Given the description of an element on the screen output the (x, y) to click on. 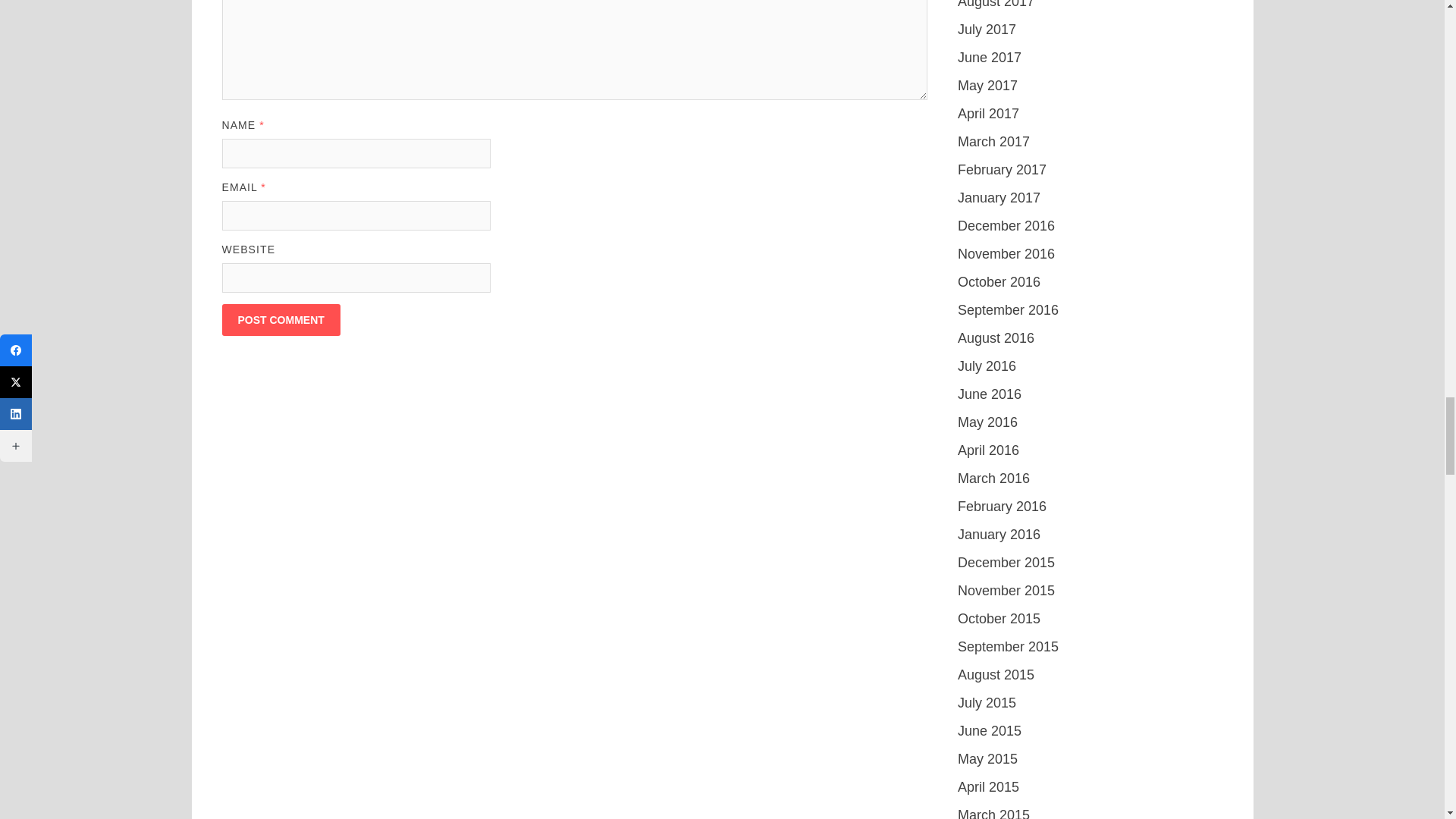
Post Comment (280, 319)
